Given the description of an element on the screen output the (x, y) to click on. 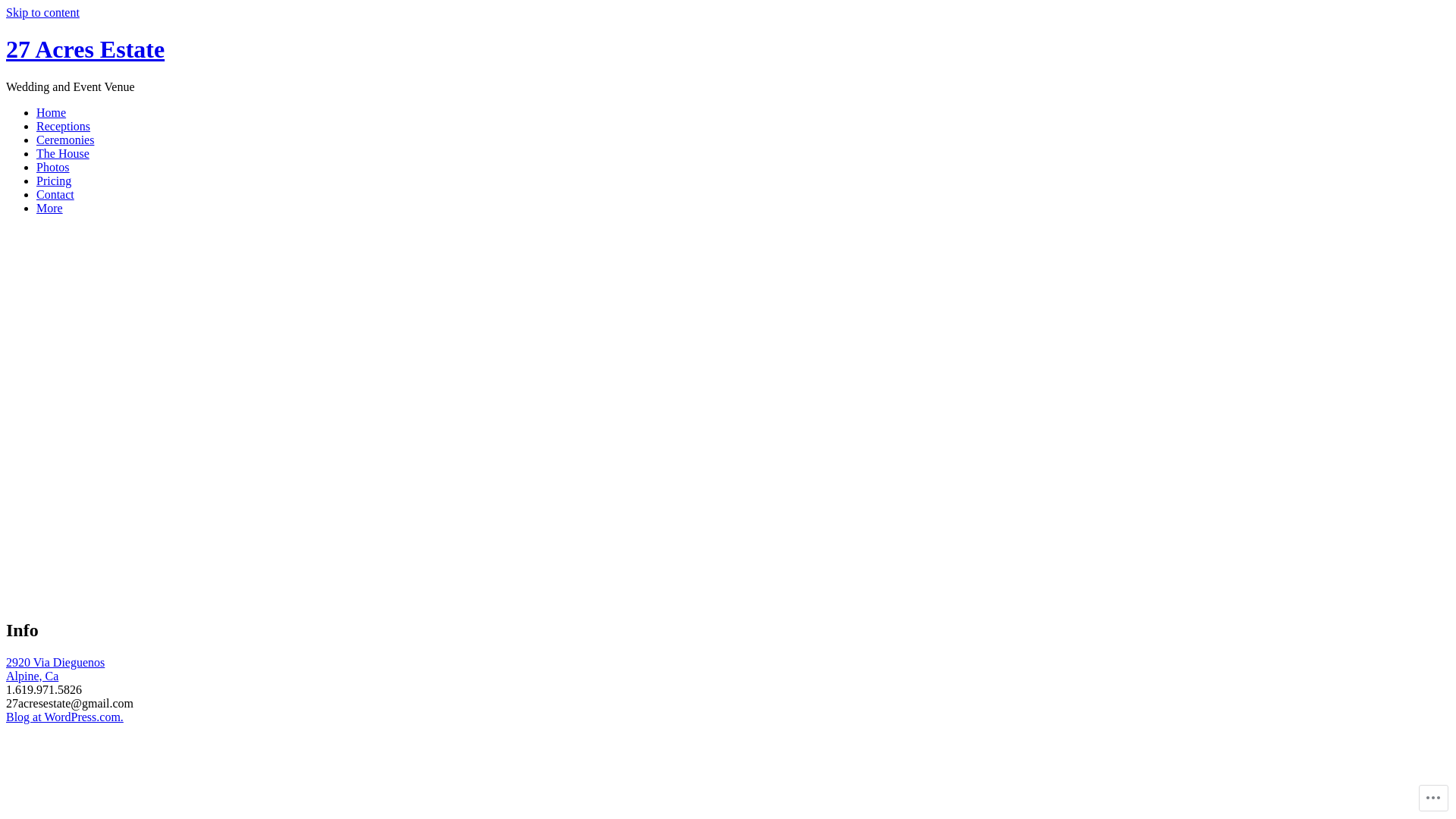
The House Element type: text (62, 153)
Photos Element type: text (52, 166)
27 Acres Estate Element type: text (85, 48)
Home Element type: text (50, 112)
2920 Via Dieguenos
Alpine, Ca Element type: text (55, 668)
Receptions Element type: text (63, 125)
Skip to content Element type: text (42, 12)
More Element type: text (49, 207)
Contact Element type: text (55, 194)
Pricing Element type: text (53, 180)
Blog at WordPress.com. Element type: text (64, 716)
VideoPress Video Player Element type: hover (330, 436)
Ceremonies Element type: text (65, 139)
